Given the description of an element on the screen output the (x, y) to click on. 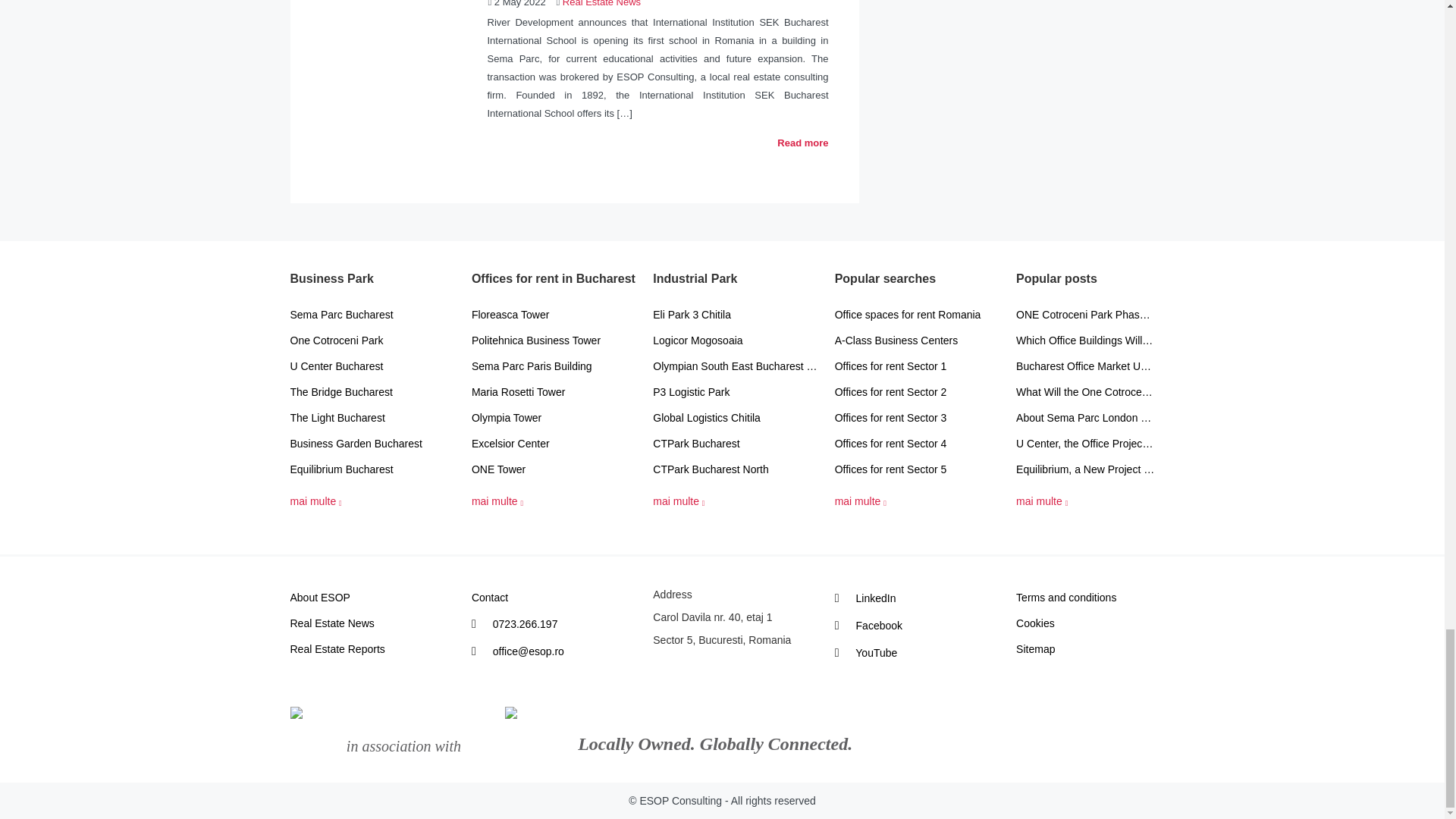
The Light Bucharest (372, 418)
Sema Parc Bucharest (372, 314)
Maria Rosetti Tower (554, 391)
Floreasca Tower (554, 314)
Business Garden Bucharest (372, 443)
Sema Parc Paris Building (554, 366)
Politehnica Business Tower (554, 340)
Olympia Tower (554, 418)
ONE Tower (554, 468)
Excelsior Center (554, 443)
